Given the description of an element on the screen output the (x, y) to click on. 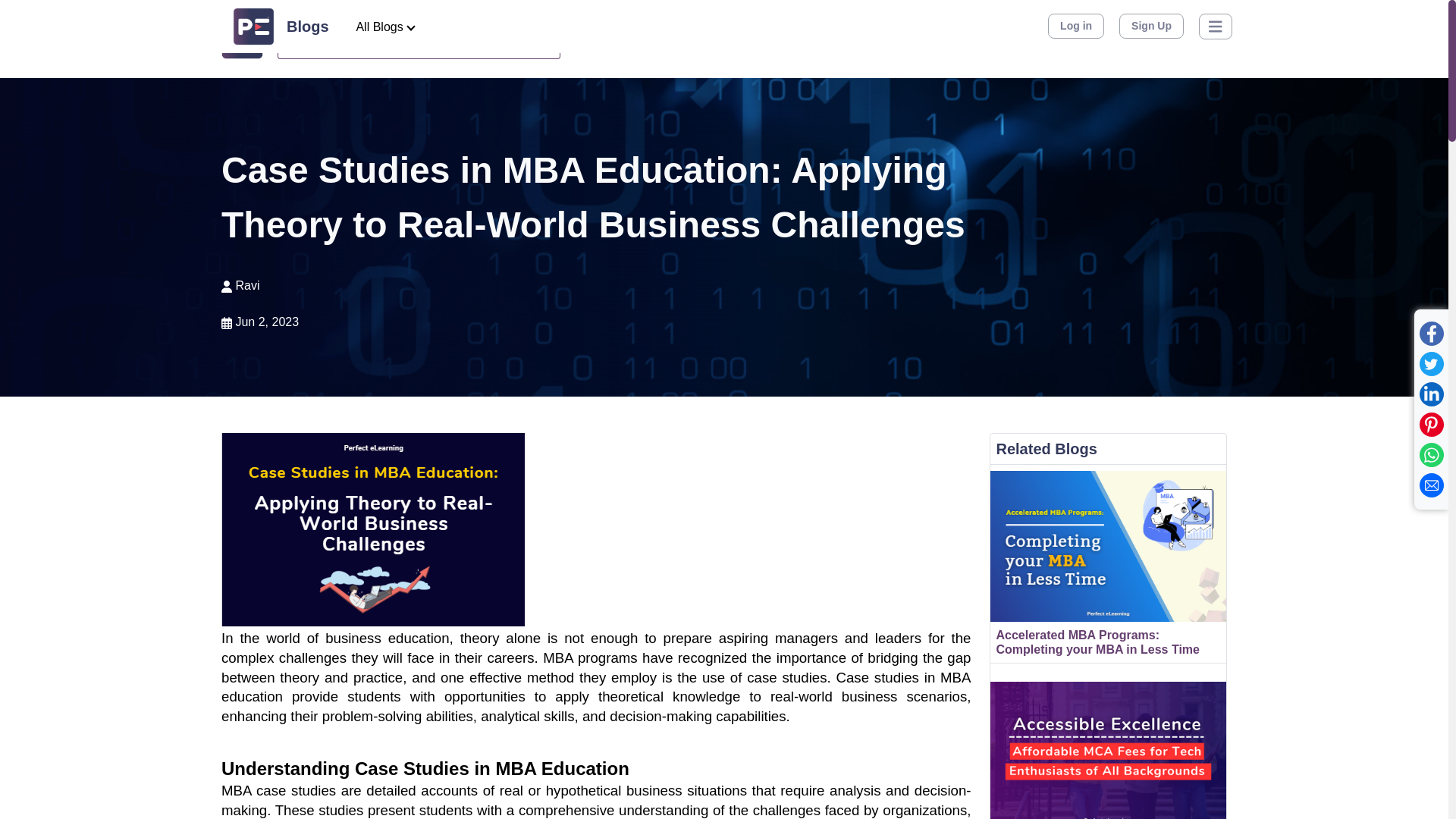
Log in (1074, 38)
Sign Up (1151, 25)
All Blogs (385, 26)
Sign up (1146, 38)
Log in (1075, 25)
Log in (1076, 26)
